Given the description of an element on the screen output the (x, y) to click on. 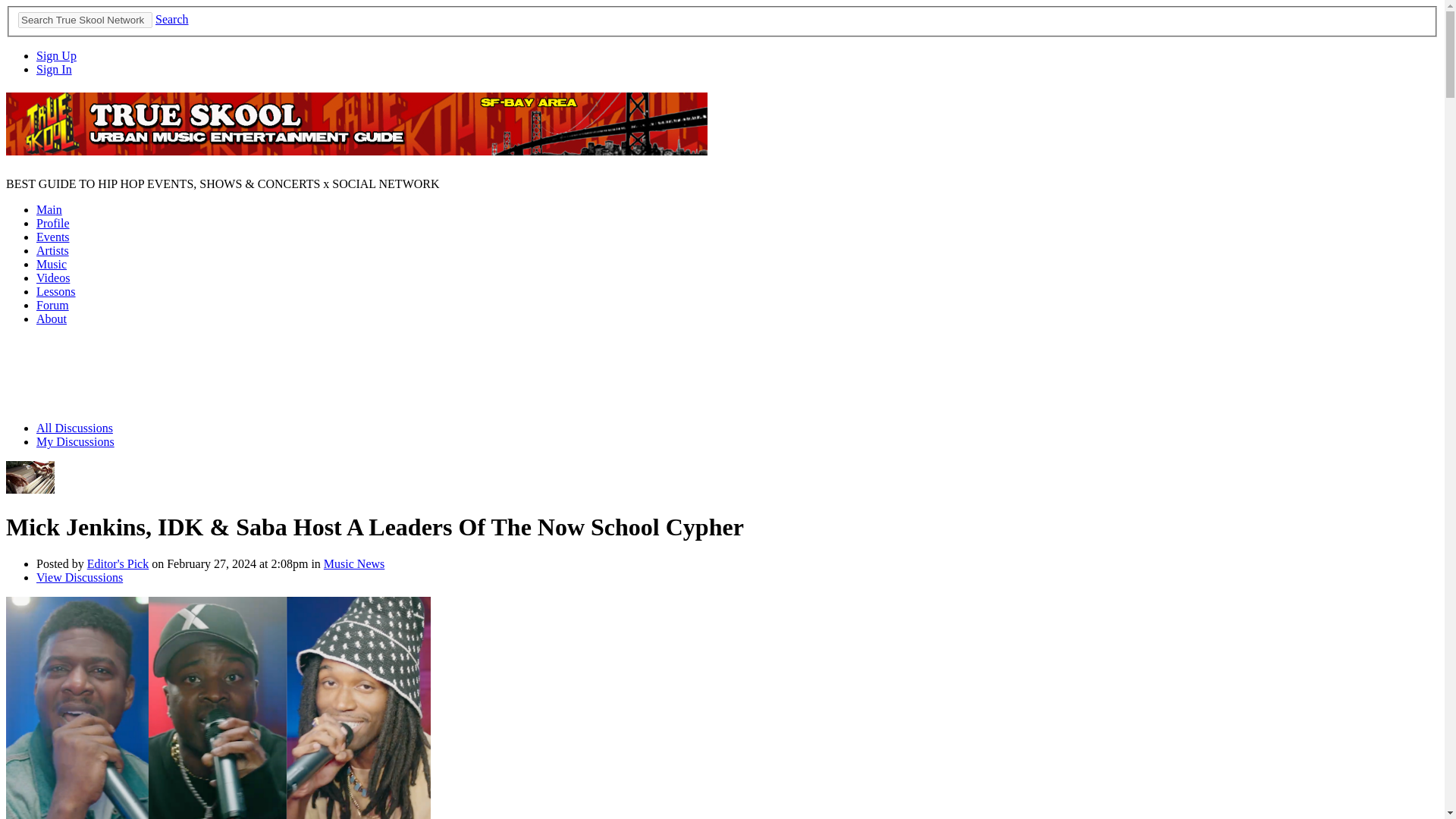
Editor's Pick (30, 489)
All Discussions (74, 427)
Forum (52, 305)
Profile (52, 223)
Main (49, 209)
My Discussions (75, 440)
About (51, 318)
Videos (52, 277)
Posted by (61, 563)
Music (51, 264)
Editor's Pick (118, 563)
Search True Skool Network (84, 19)
Sign In (53, 69)
Lessons (55, 291)
Advertisement (721, 372)
